Given the description of an element on the screen output the (x, y) to click on. 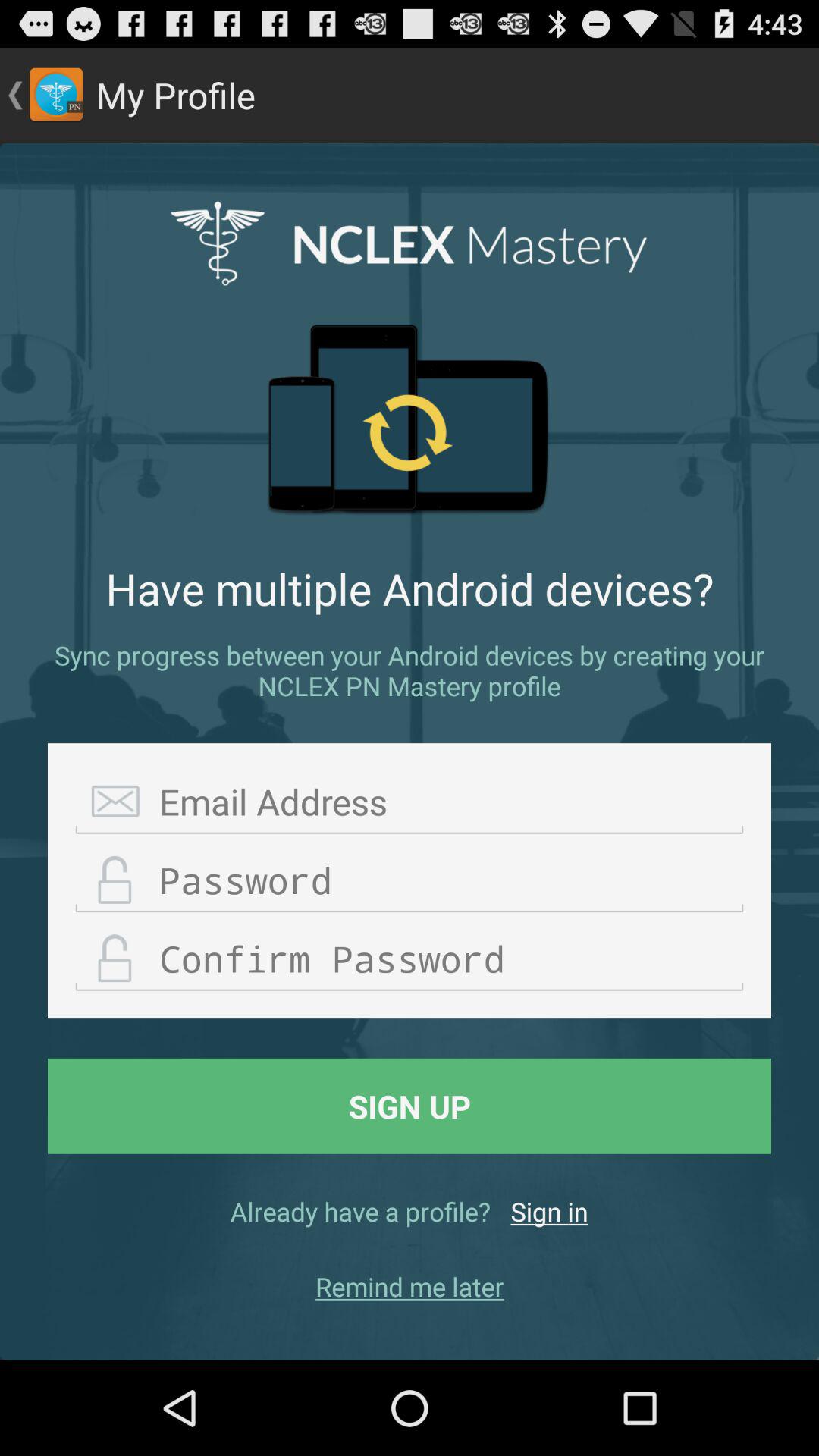
enter account password (409, 880)
